Given the description of an element on the screen output the (x, y) to click on. 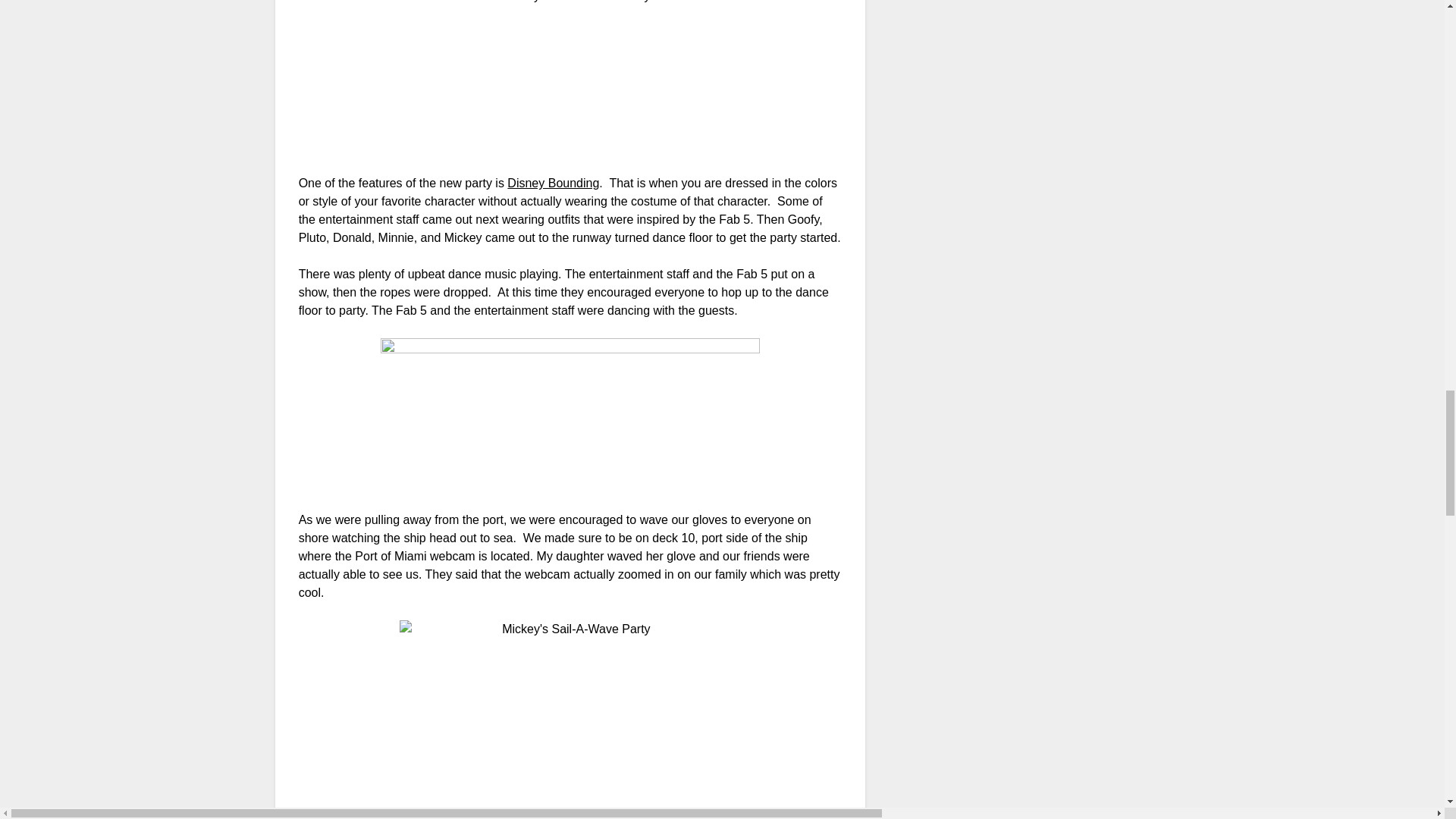
Disney Bounding (552, 182)
